Given the description of an element on the screen output the (x, y) to click on. 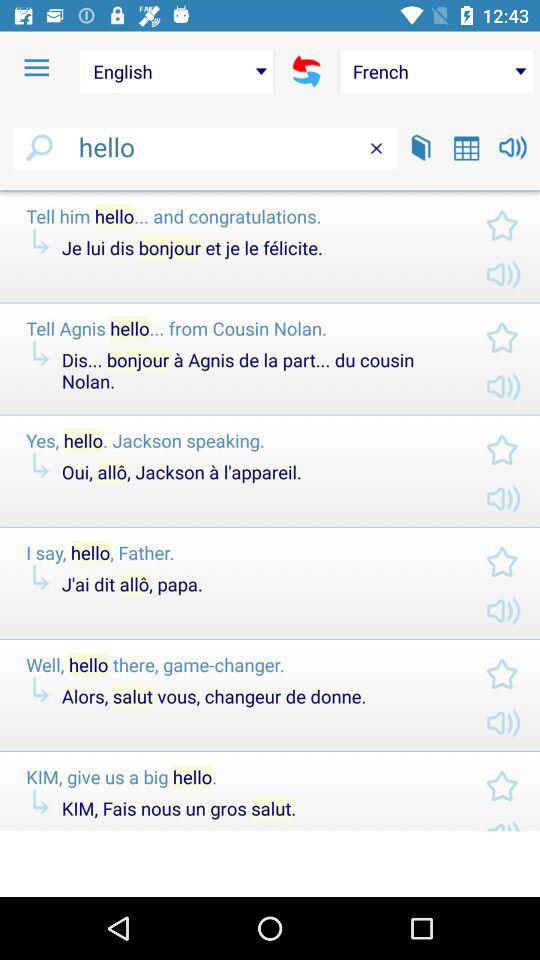
choose item above hello item (36, 68)
